Given the description of an element on the screen output the (x, y) to click on. 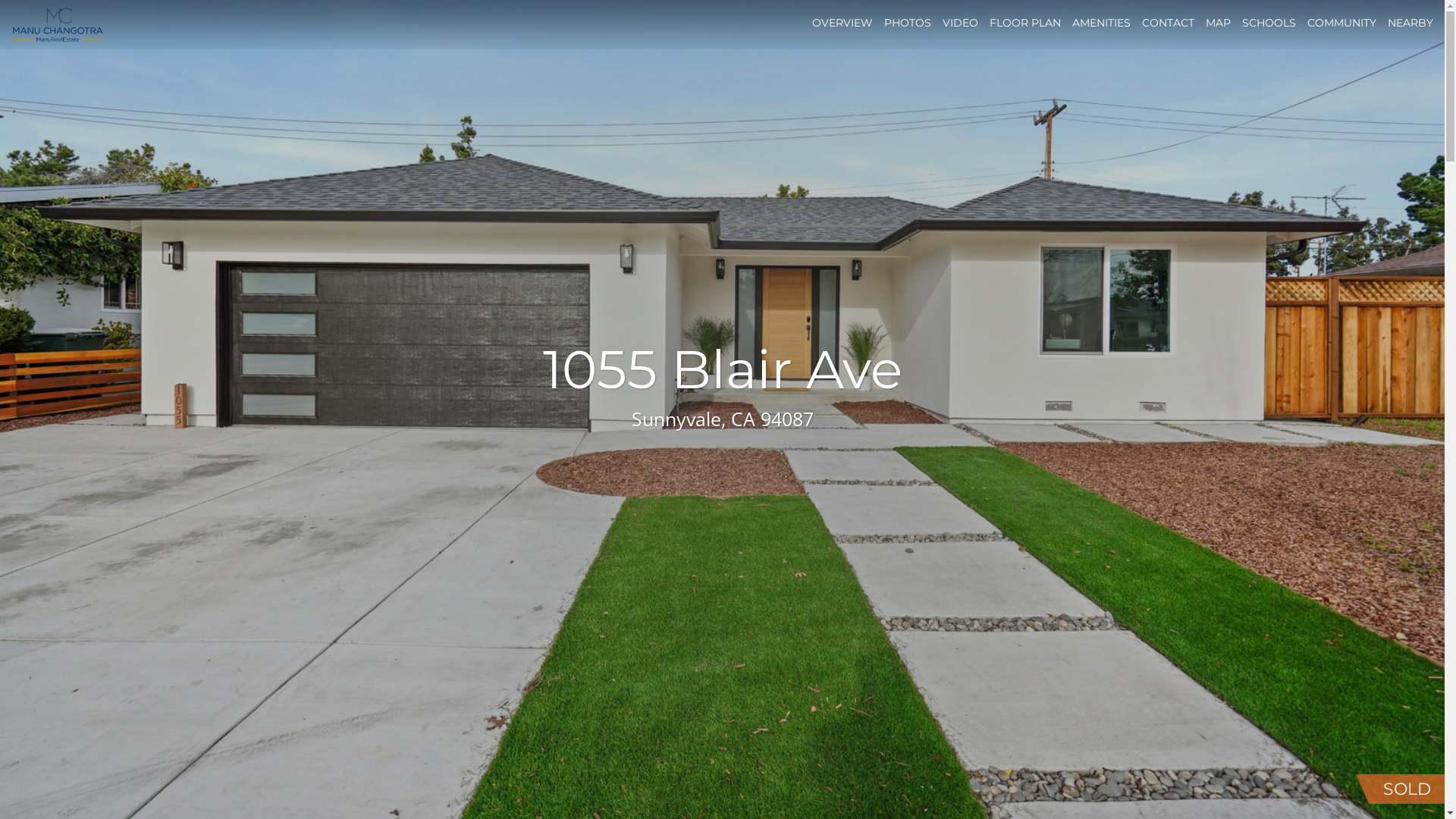
COMMUNITY Element type: text (1341, 22)
NEARBY Element type: text (1410, 22)
OVERVIEW Element type: text (842, 22)
PHOTOS Element type: text (907, 22)
MAP Element type: text (1217, 22)
FLOOR PLAN Element type: text (1024, 22)
CONTACT Element type: text (1168, 22)
SCHOOLS Element type: text (1268, 22)
VIDEO Element type: text (960, 22)
AMENITIES Element type: text (1101, 22)
